Given the description of an element on the screen output the (x, y) to click on. 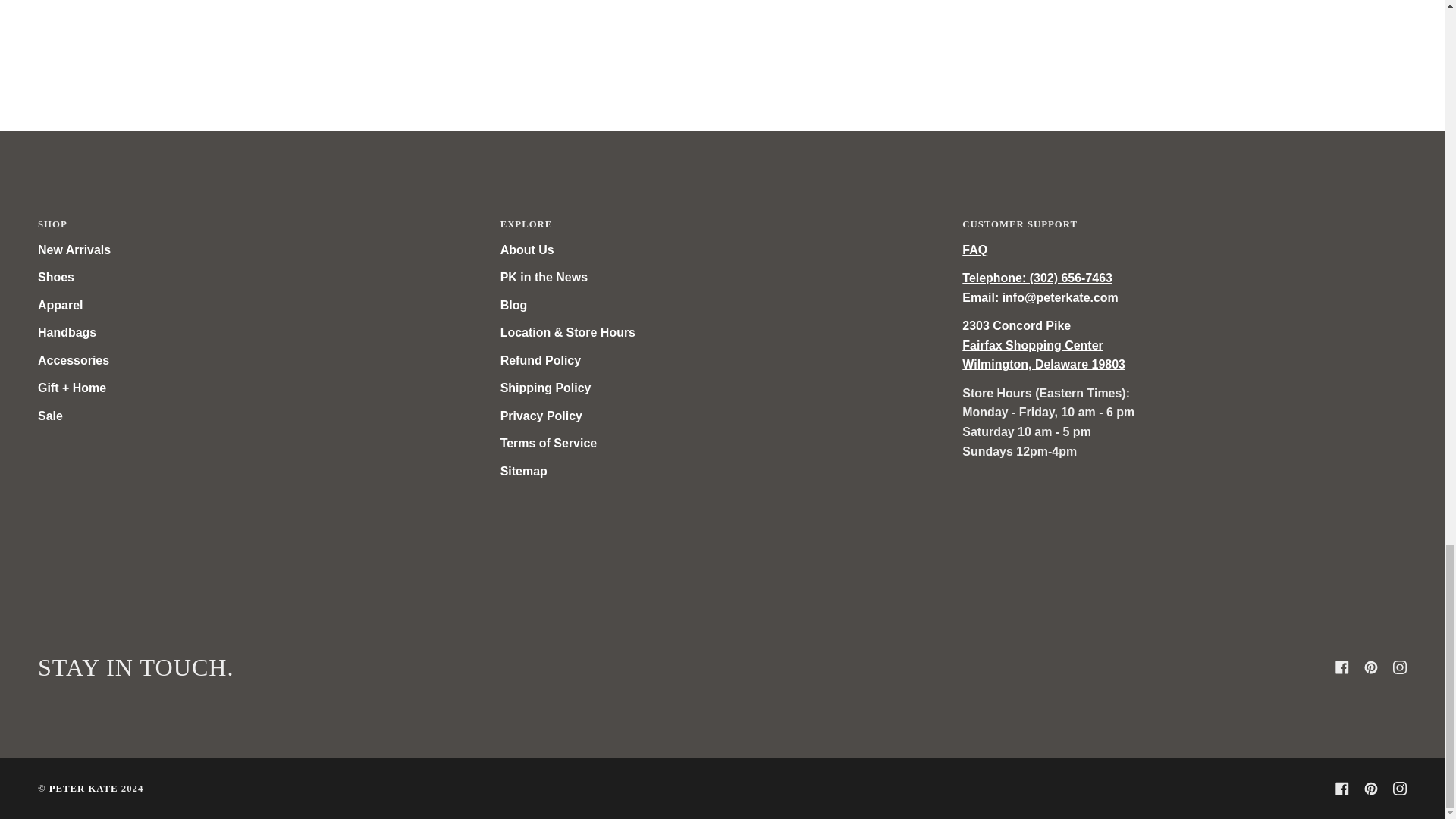
Instagram (1399, 788)
Pinterest (1370, 667)
Pinterest (1370, 788)
Facebook (1342, 667)
Facebook (1342, 788)
Instagram (1399, 667)
